Given the description of an element on the screen output the (x, y) to click on. 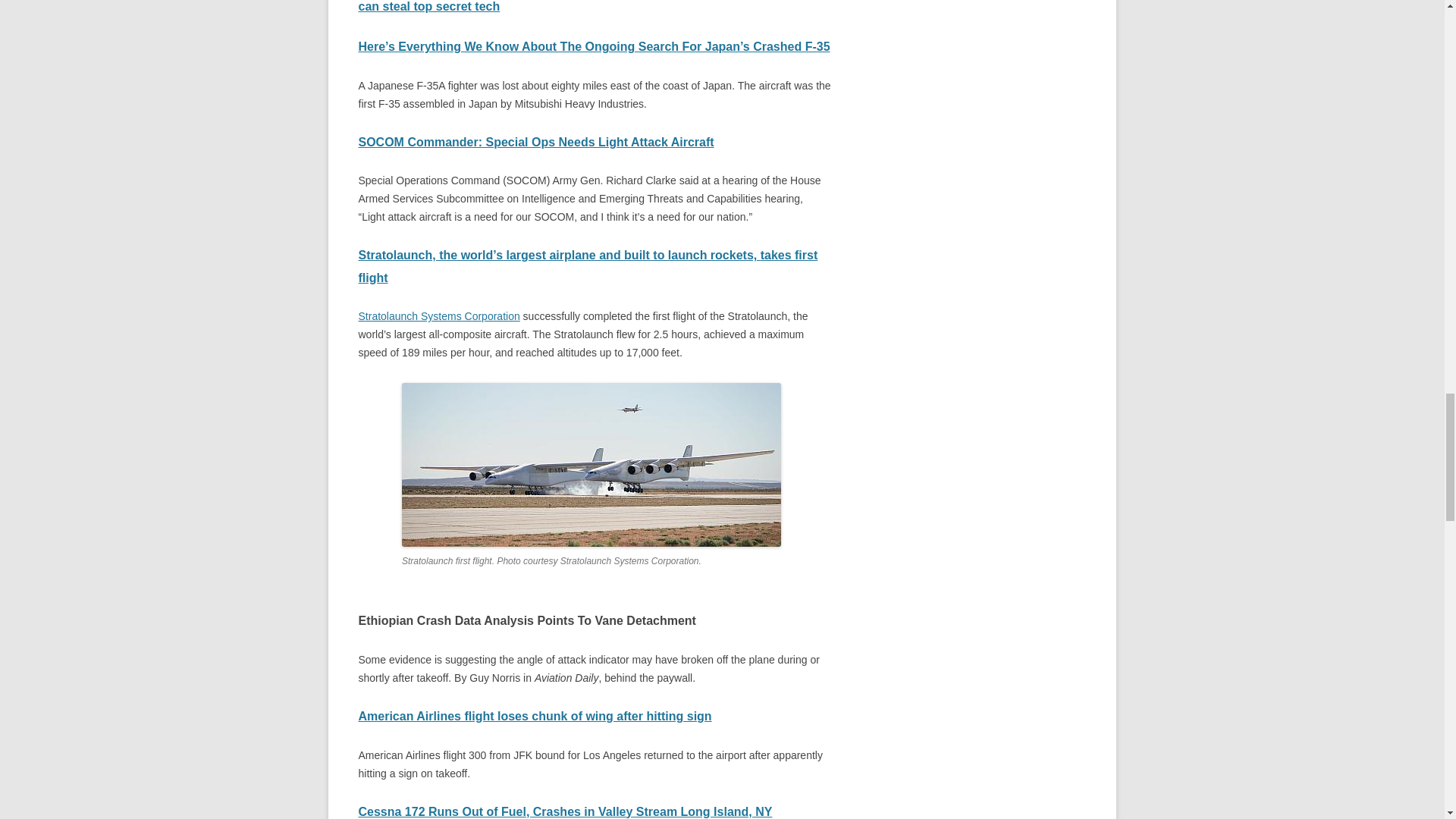
Stratolaunch Systems Corporation (438, 316)
SOCOM Commander: Special Ops Needs Light Attack Aircraft (535, 141)
